Given the description of an element on the screen output the (x, y) to click on. 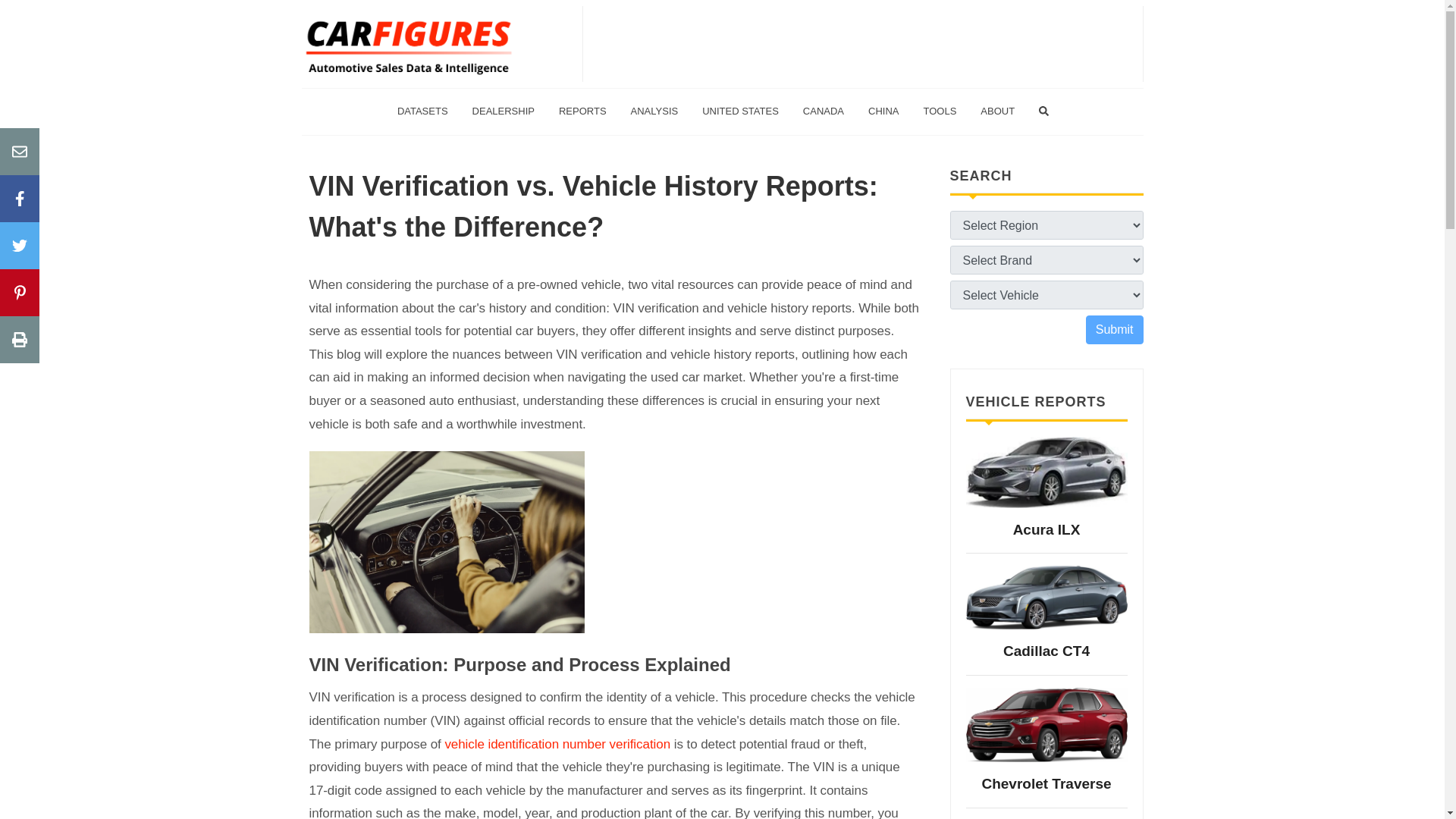
DATASETS (422, 111)
Advertisement (862, 43)
REPORTS (582, 111)
DEALERSHIP (503, 111)
ANALYSIS (655, 111)
UNITED STATES (740, 111)
